Given the description of an element on the screen output the (x, y) to click on. 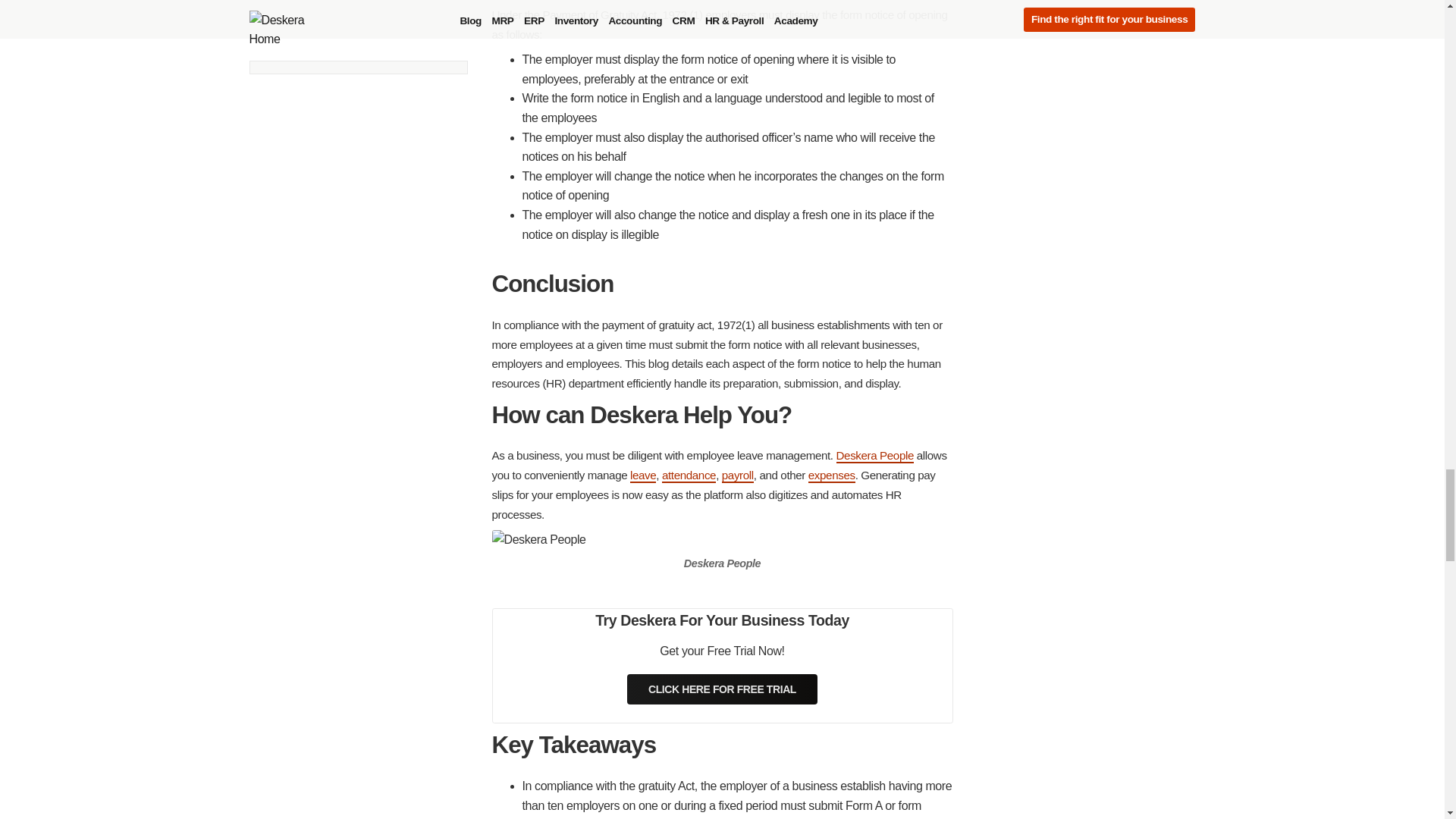
CLICK HERE FOR FREE TRIAL (721, 689)
leave (643, 475)
attendance (689, 475)
payroll (738, 475)
expenses (832, 475)
Deskera People (874, 455)
